Given the description of an element on the screen output the (x, y) to click on. 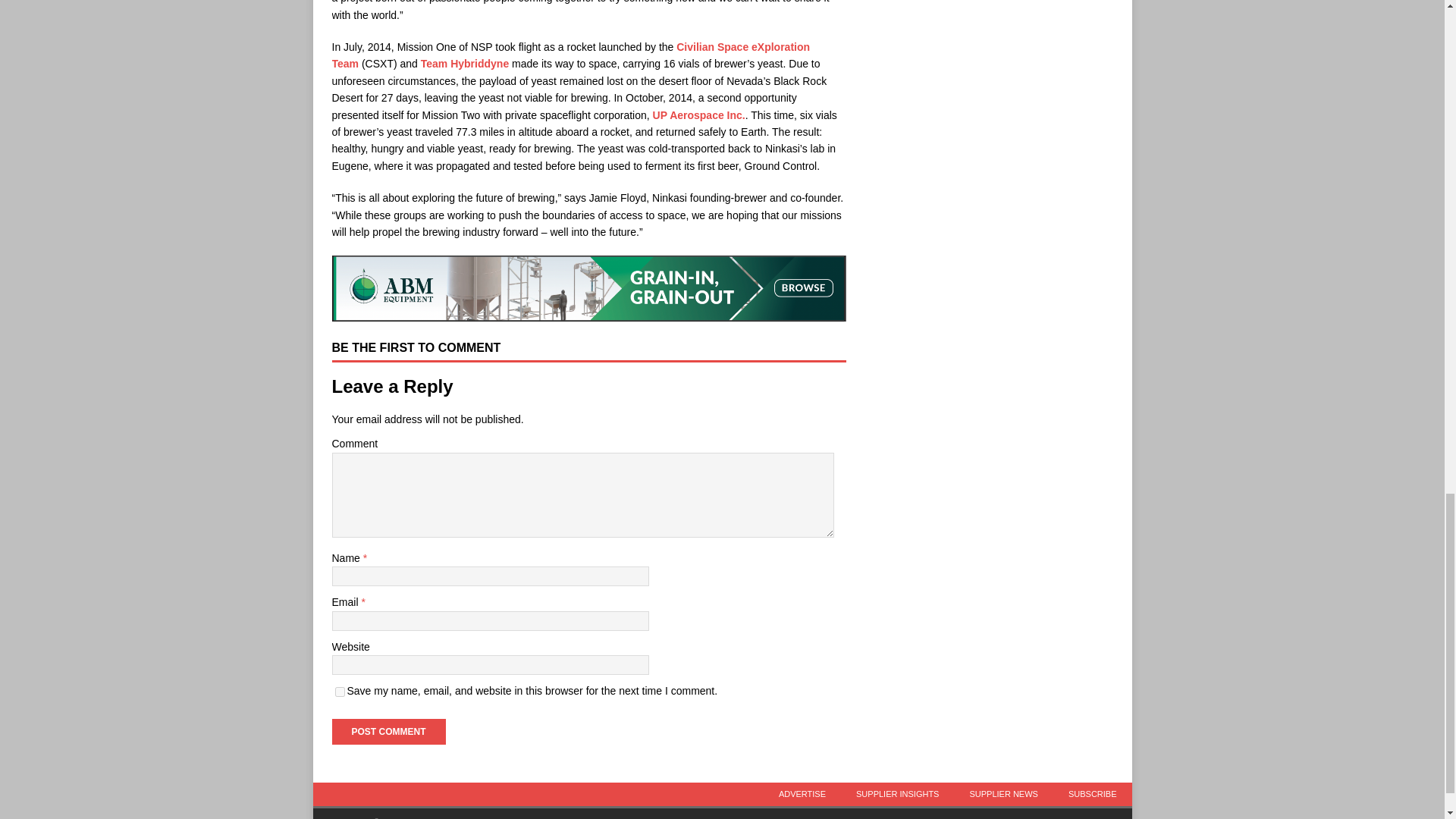
ADVERTISE (801, 793)
UP Aerospace Inc. (698, 114)
Civilian Space eXploration Team (570, 54)
Post Comment (388, 731)
Team Hybriddyne (464, 63)
Post Comment (388, 731)
yes (339, 691)
